Given the description of an element on the screen output the (x, y) to click on. 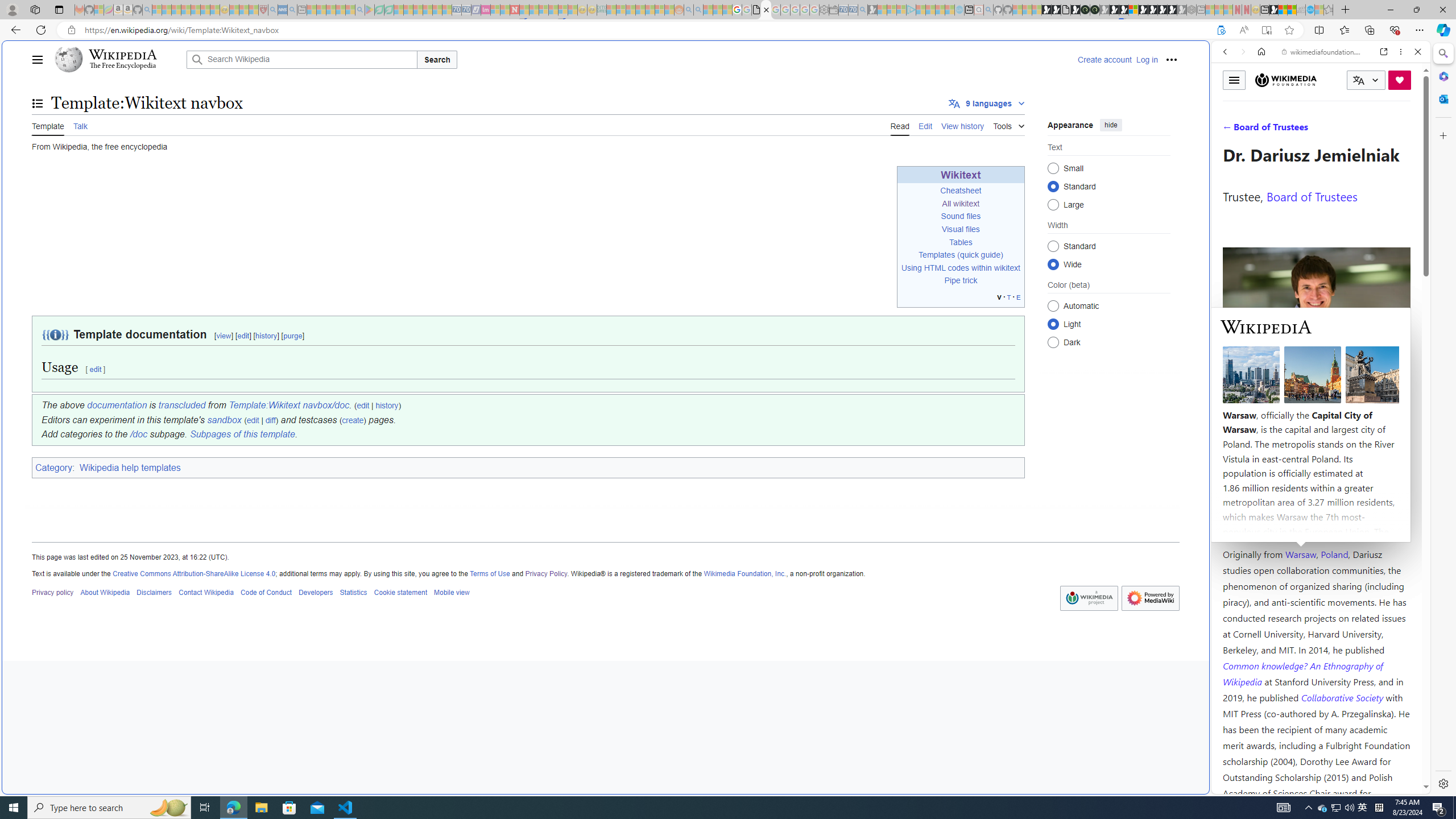
history (386, 405)
Powered by MediaWiki (1150, 597)
